Given the description of an element on the screen output the (x, y) to click on. 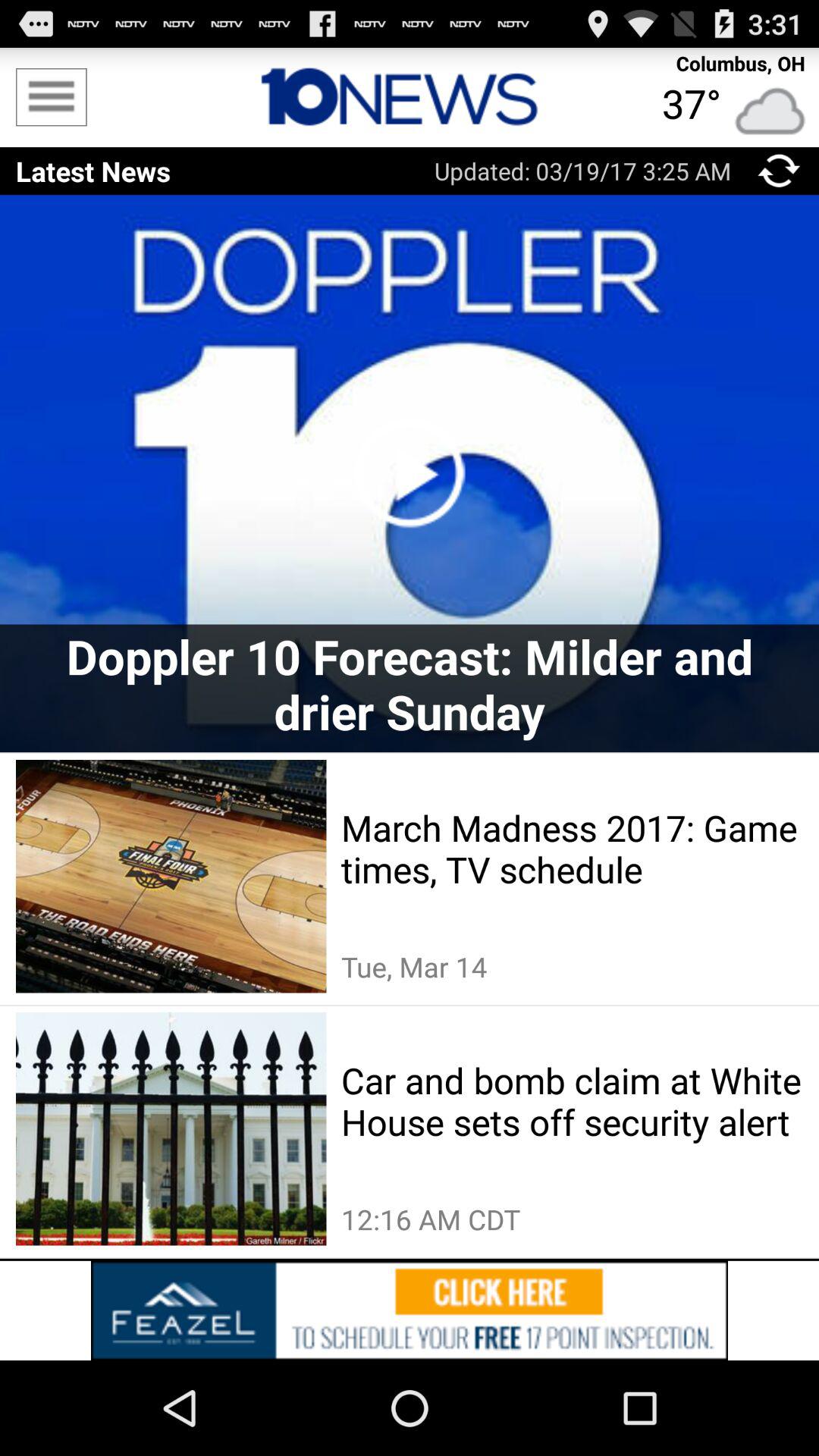
advertisement page (409, 1310)
